Given the description of an element on the screen output the (x, y) to click on. 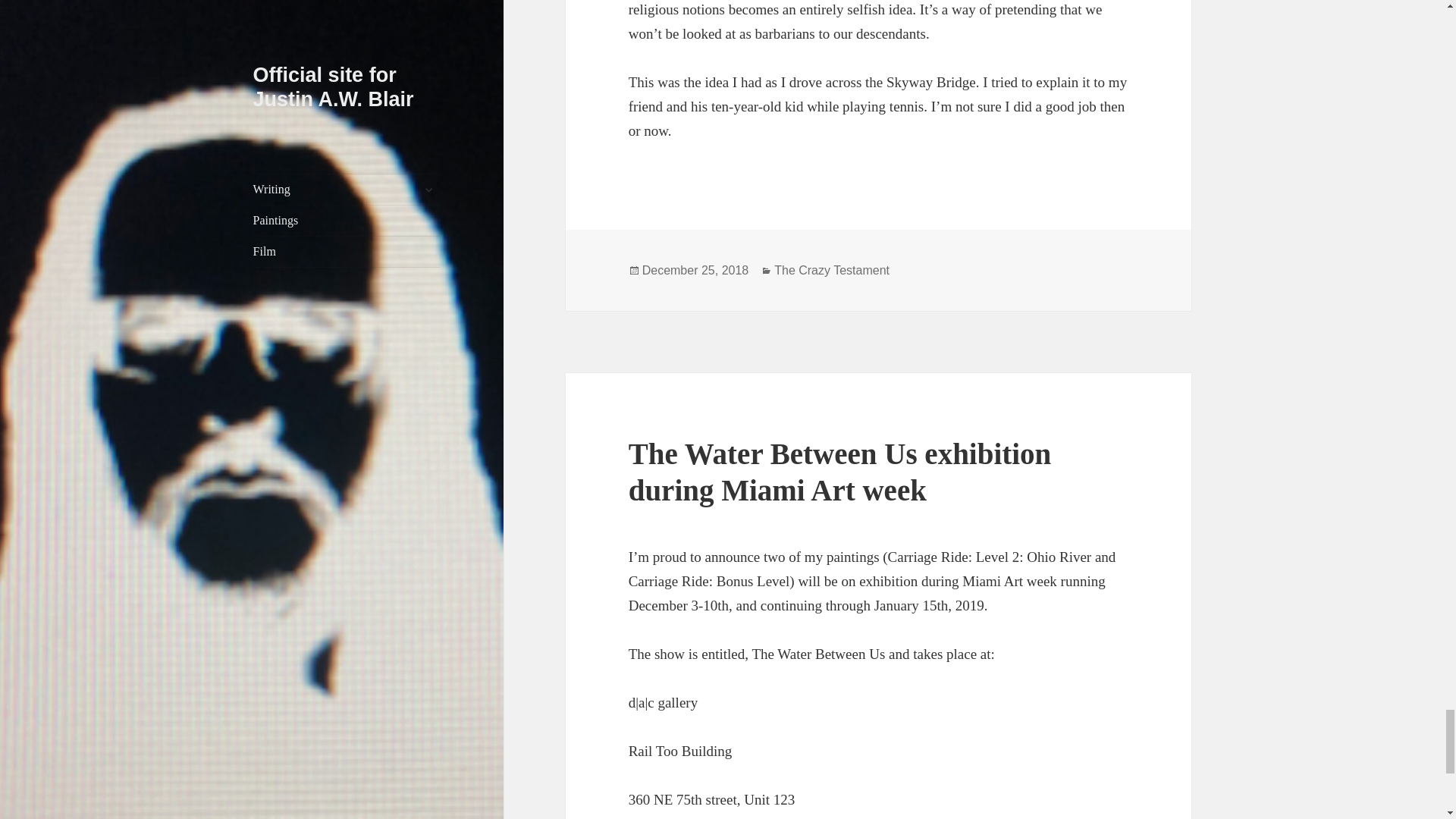
December 25, 2018 (695, 270)
The Water Between Us exhibition during Miami Art week (839, 471)
The Crazy Testament (831, 270)
